Given the description of an element on the screen output the (x, y) to click on. 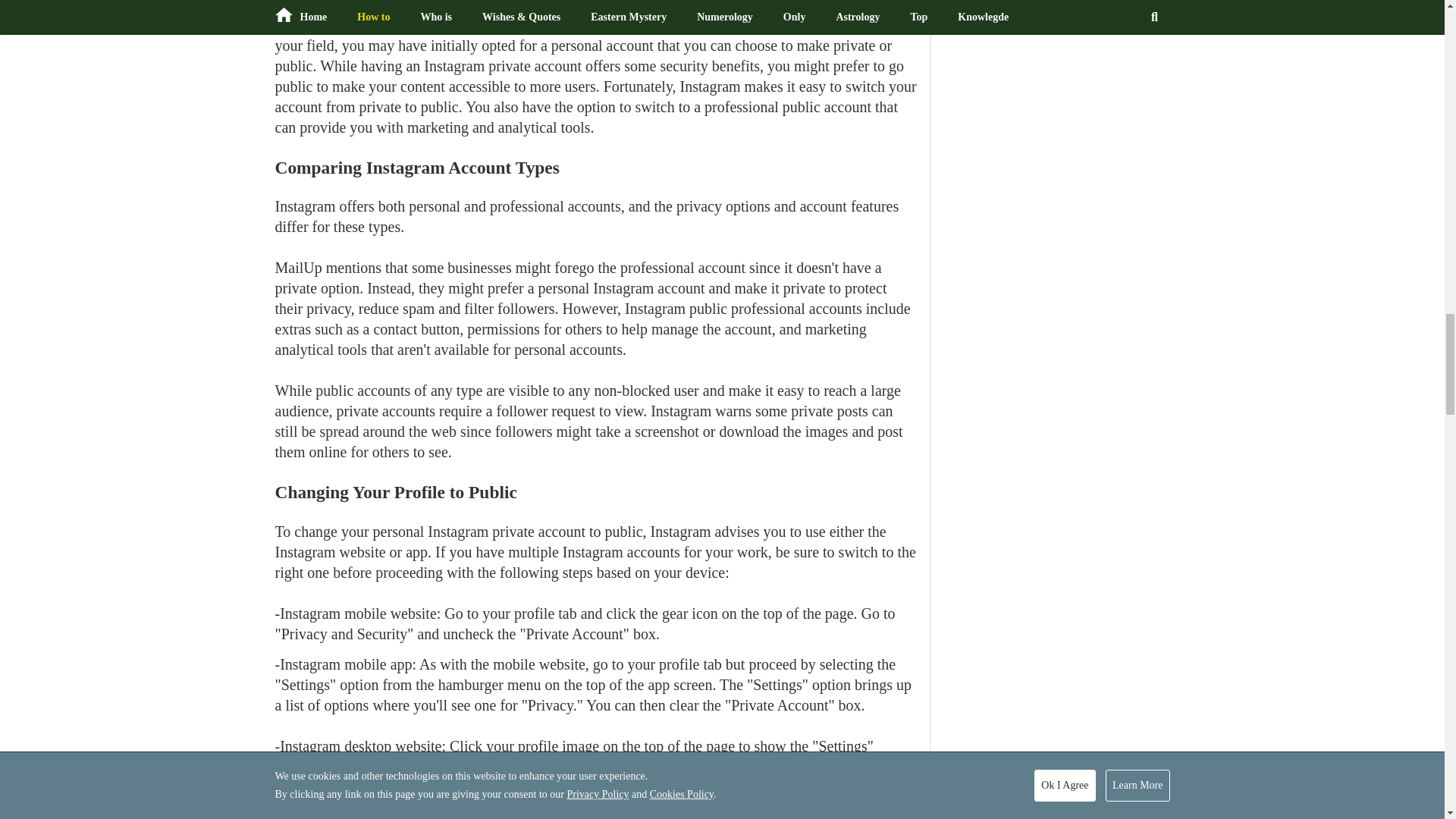
Instagram (429, 24)
